Given the description of an element on the screen output the (x, y) to click on. 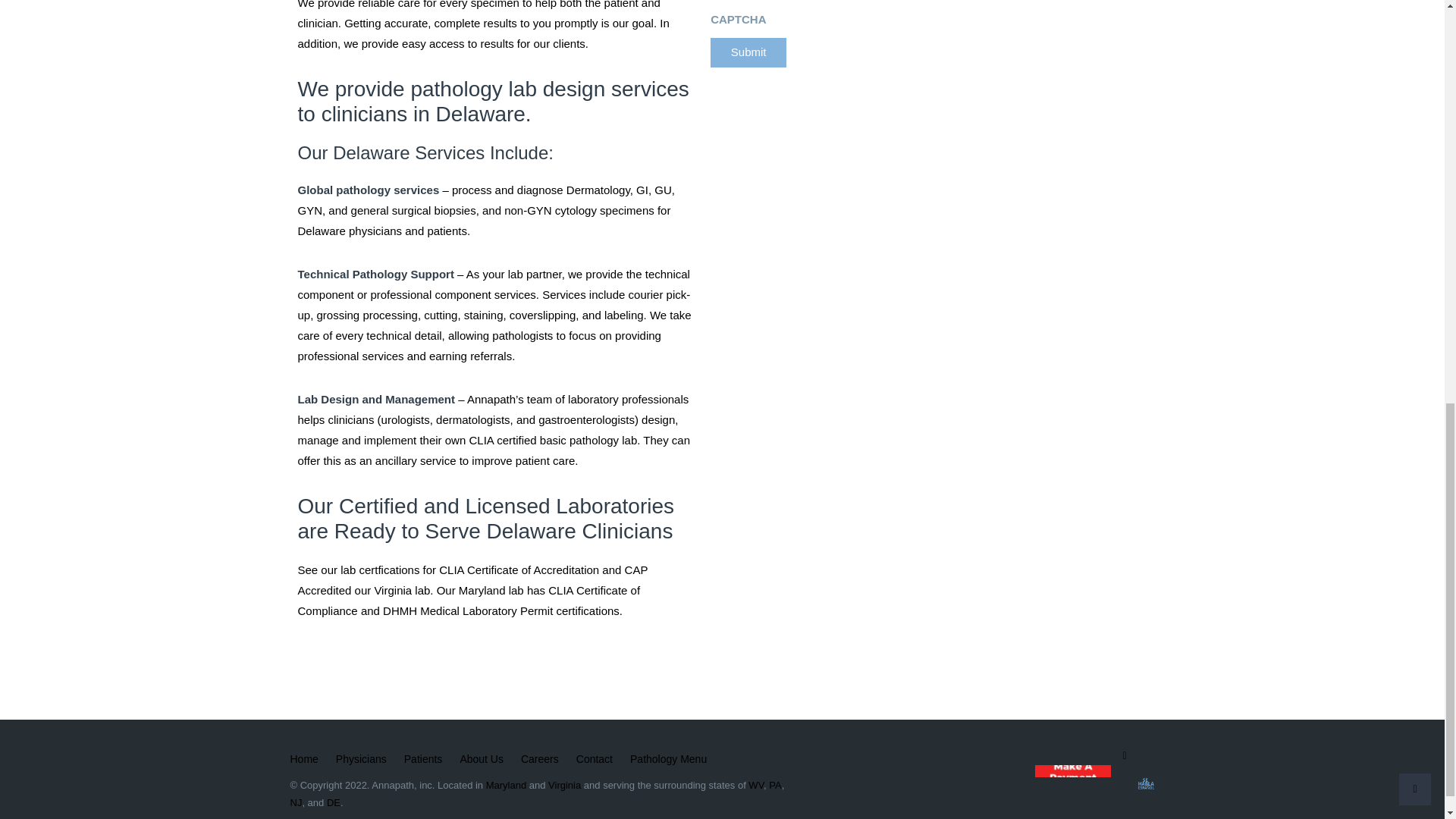
CLIA Certificate of Compliance (468, 600)
CAP Accredited (472, 580)
Patients (423, 759)
WV (755, 785)
Home (303, 759)
Virginia (564, 785)
Physicians (361, 759)
DHMH Medical Laboratory Permit (467, 610)
PA (774, 785)
Maryland (505, 785)
Careers (540, 759)
CLIA Certificate of Accreditation (518, 569)
Submit (748, 52)
Pathology Menu (668, 759)
Submit (748, 52)
